Given the description of an element on the screen output the (x, y) to click on. 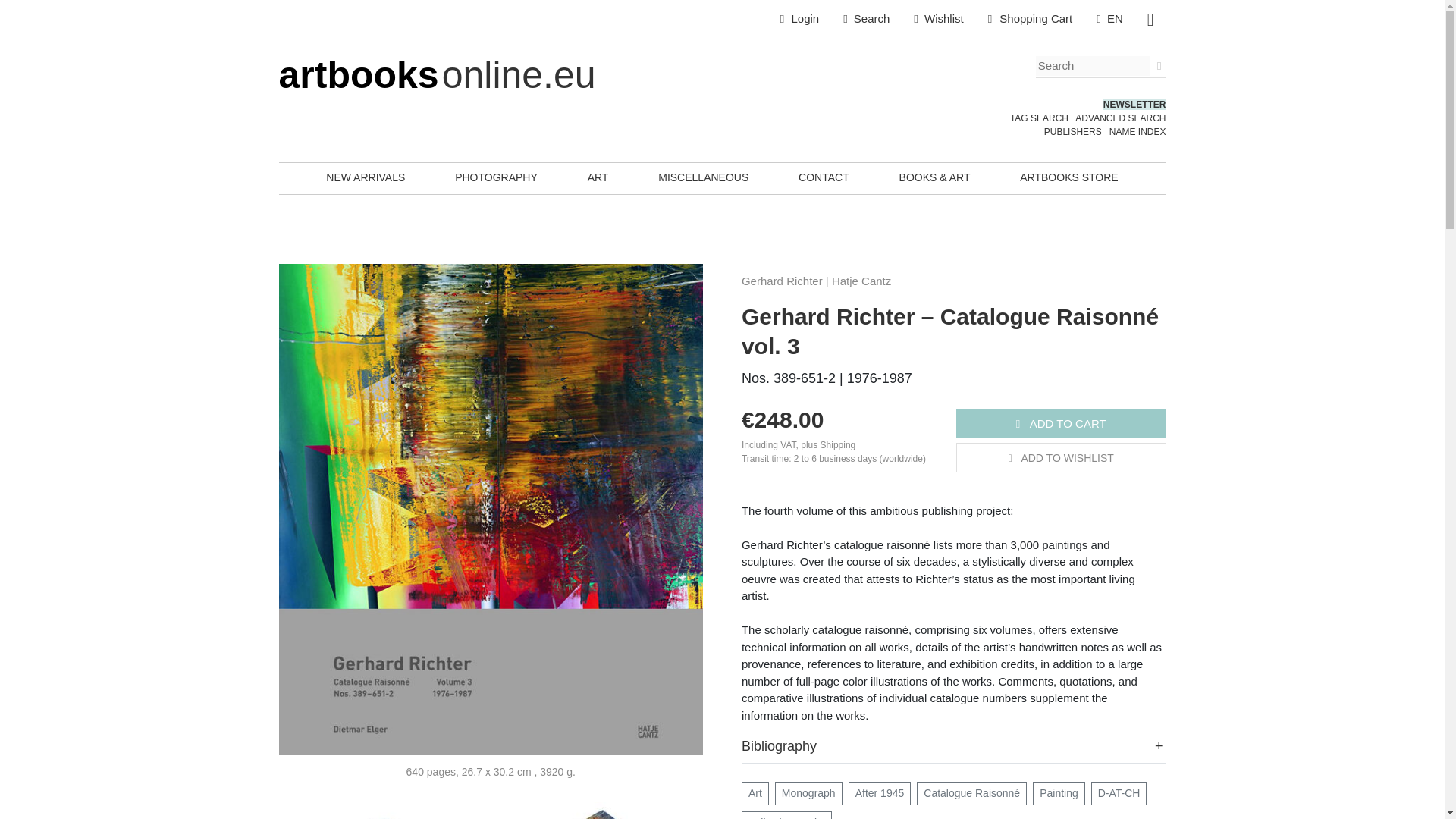
artbooksonline.eu (437, 75)
Shopping Cart (1029, 19)
NEW ARRIVALS (365, 177)
Search (866, 19)
PUBLISHERS (1072, 131)
NAME INDEX (1137, 131)
PHOTOGRAPHY (496, 177)
NEWSLETTER (1134, 104)
Wishlist (938, 19)
ADVANCED SEARCH (1120, 118)
EN (1109, 19)
Login (799, 19)
TAG SEARCH (1039, 118)
